Given the description of an element on the screen output the (x, y) to click on. 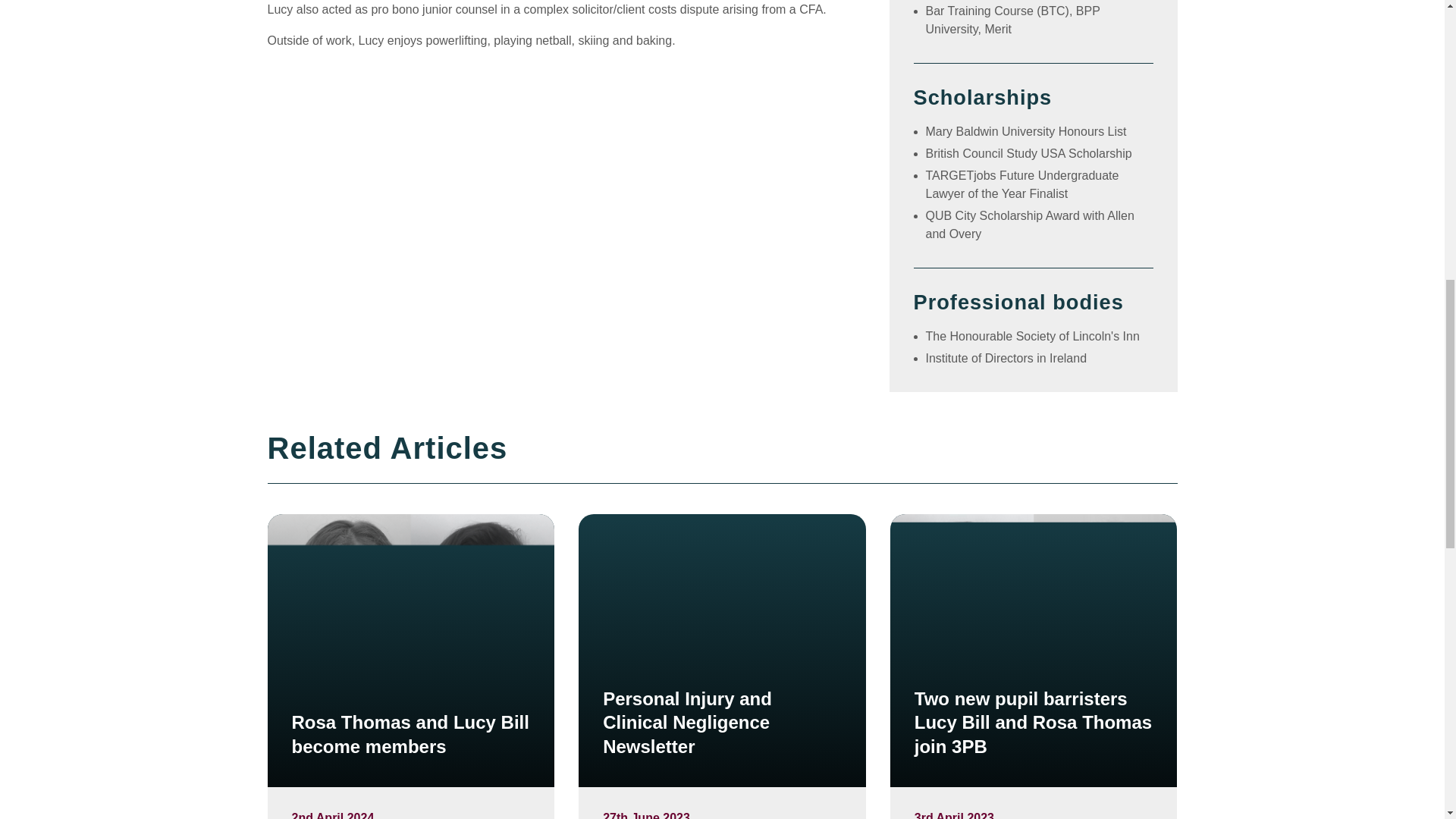
Personal Injury and Clinical Negligence Newsletter 3 (722, 650)
Rosa Thomas and Lucy Bill become members 2 (410, 650)
